Given the description of an element on the screen output the (x, y) to click on. 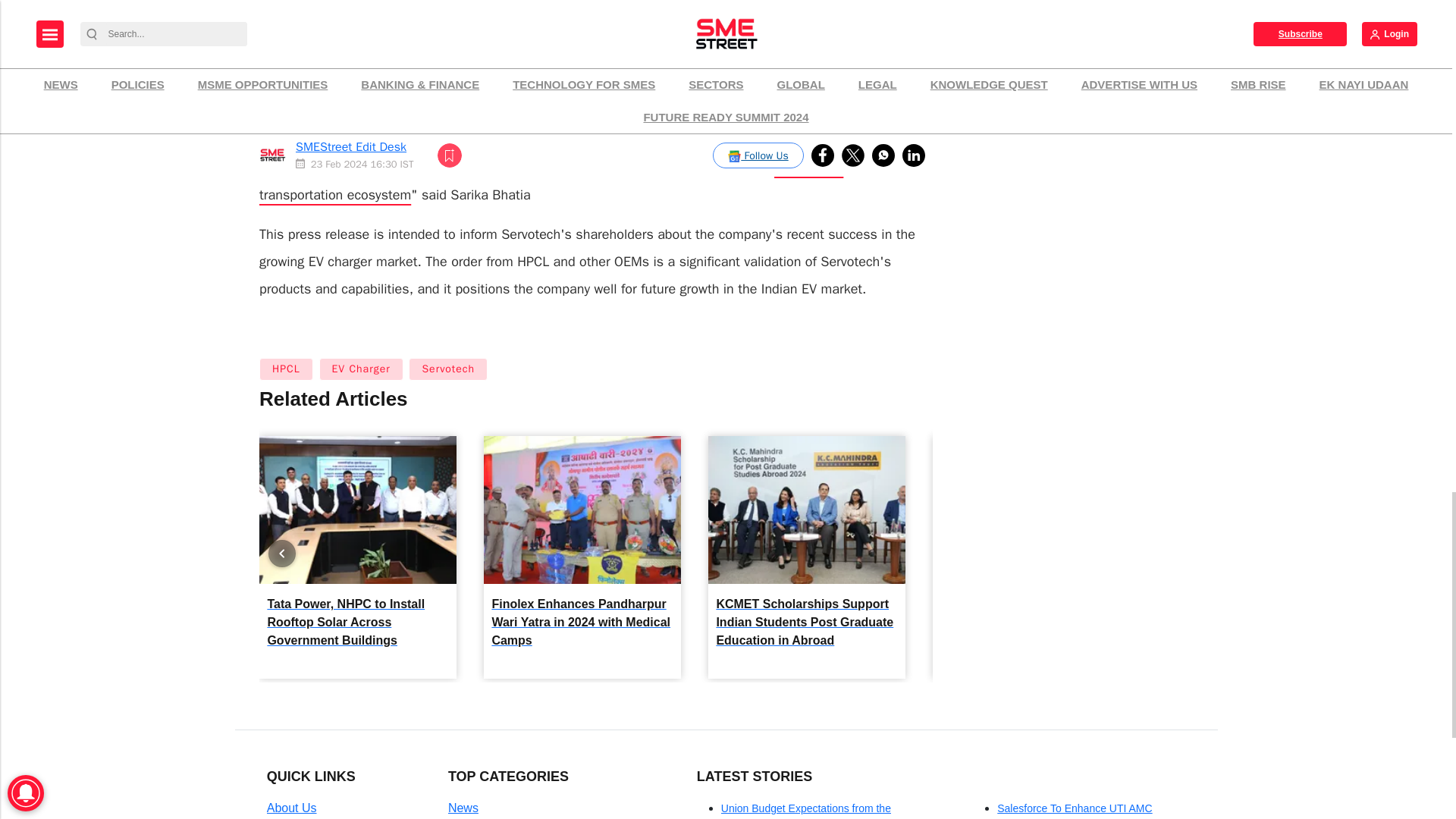
3rd party ad content (1066, 35)
